Given the description of an element on the screen output the (x, y) to click on. 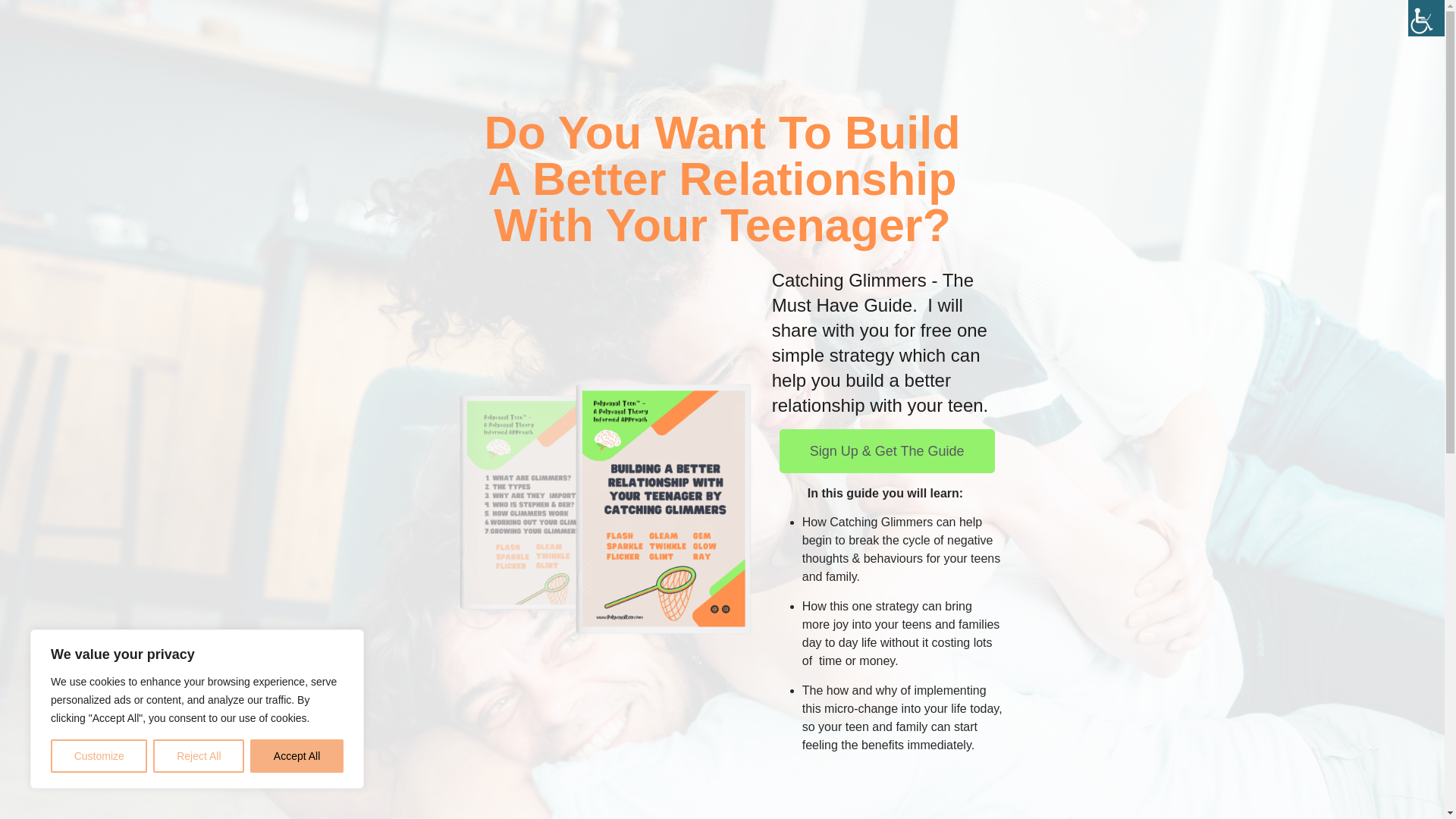
Accept All (296, 756)
Reject All (198, 756)
Customize (98, 756)
